Given the description of an element on the screen output the (x, y) to click on. 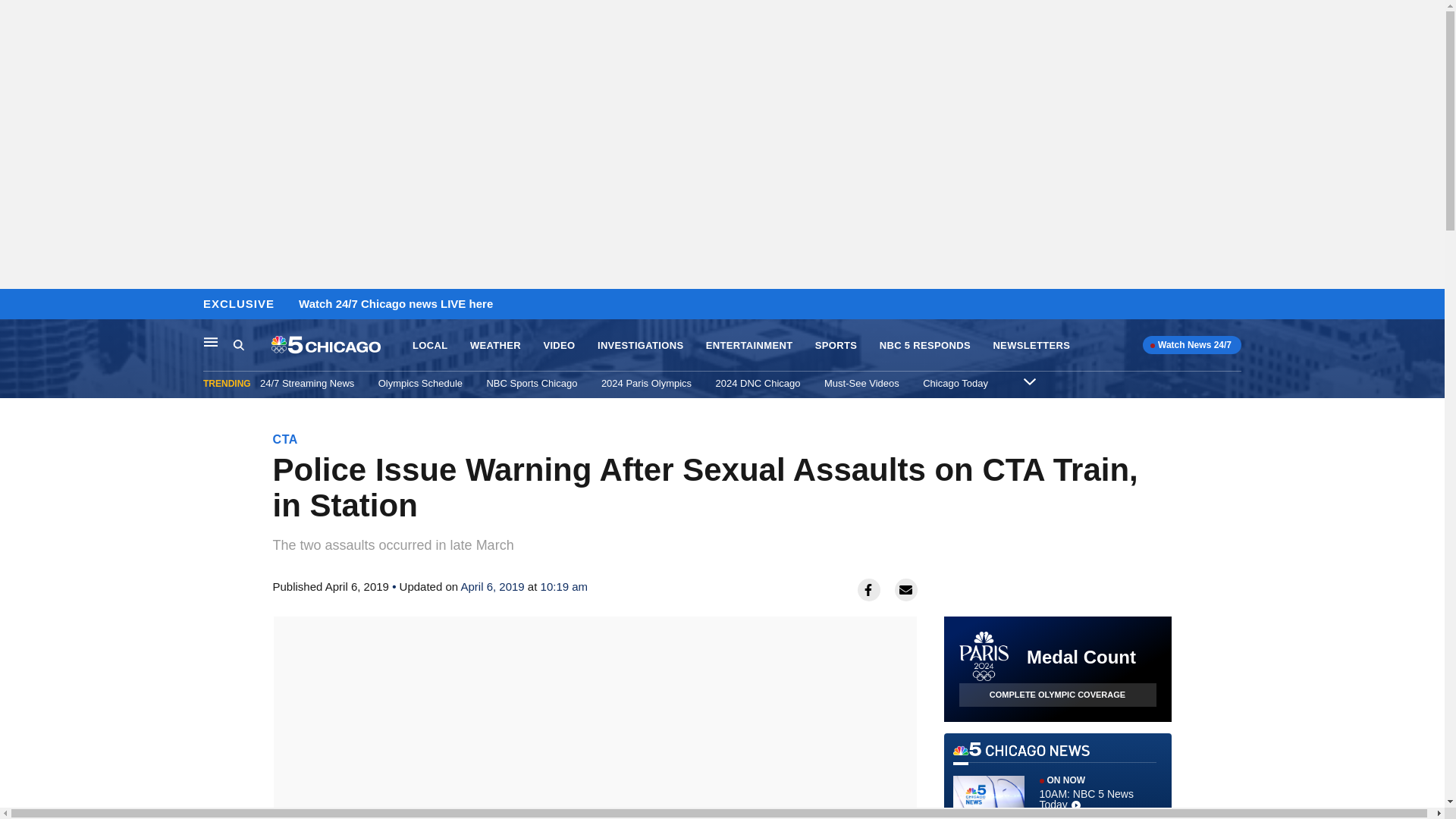
Chicago Today (955, 383)
Must-See Videos (861, 383)
Skip to content (16, 304)
COMPLETE OLYMPIC COVERAGE (1057, 694)
Main Navigation (210, 341)
Search (238, 344)
Olympics Schedule (1056, 780)
VIDEO (420, 383)
SPORTS (559, 345)
